Given the description of an element on the screen output the (x, y) to click on. 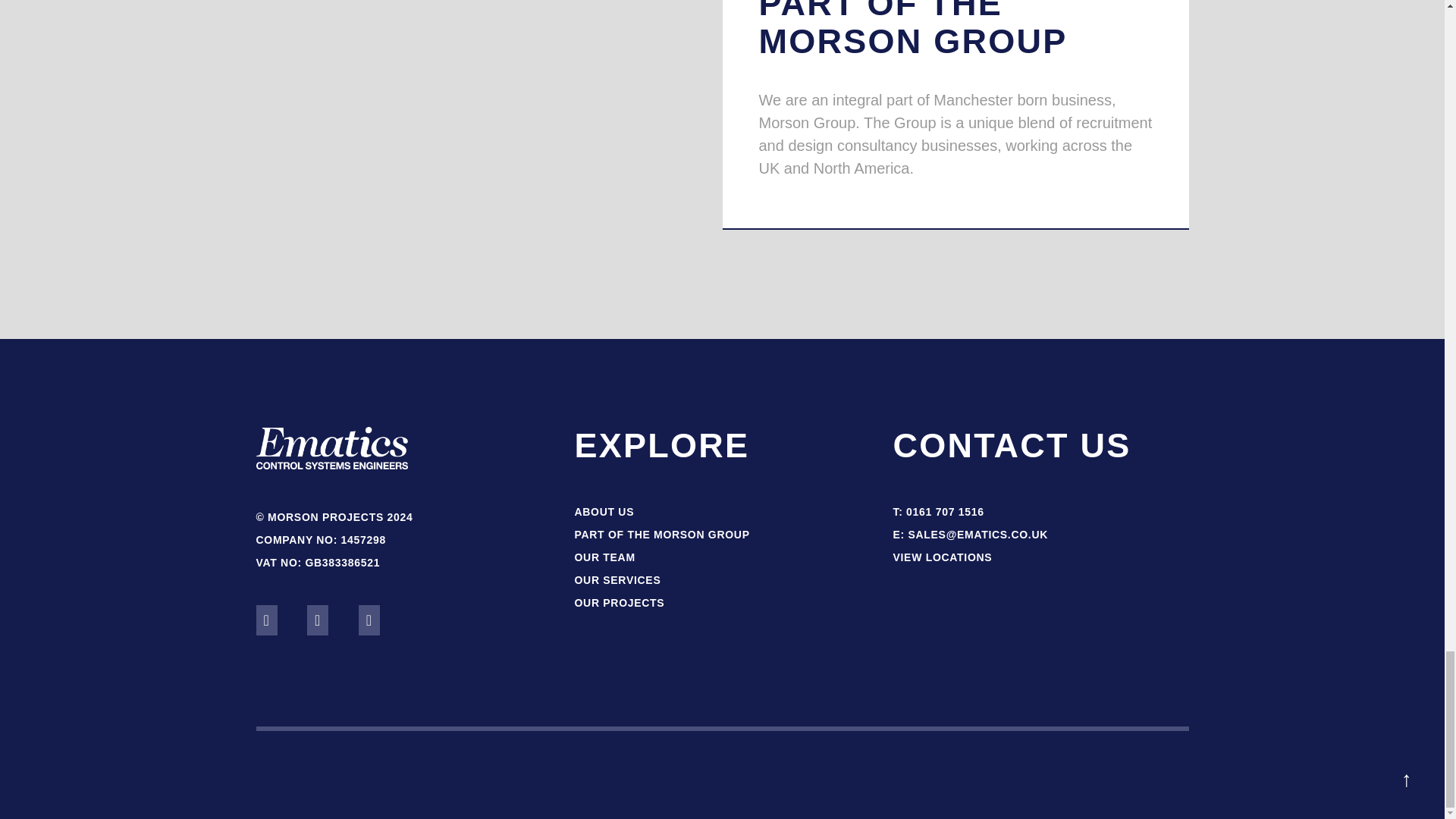
OUR PROJECTS (618, 603)
PART OF THE MORSON GROUP (661, 534)
VIEW LOCATIONS (941, 557)
OUR TEAM (603, 557)
OUR SERVICES (617, 580)
ABOUT US (603, 511)
